Given the description of an element on the screen output the (x, y) to click on. 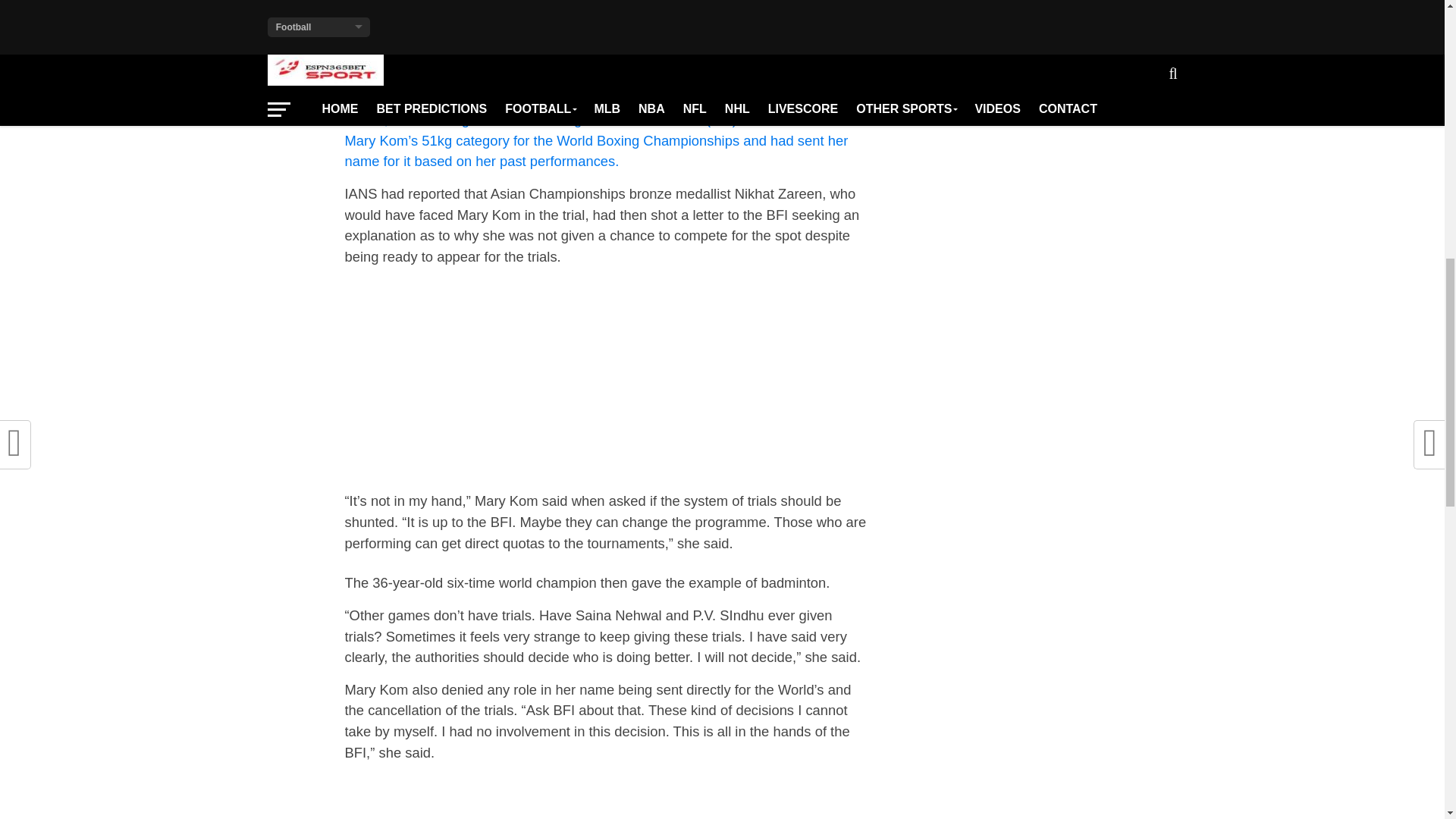
Advertisement (605, 22)
Advertisement (604, 796)
Advertisement (604, 384)
